Given the description of an element on the screen output the (x, y) to click on. 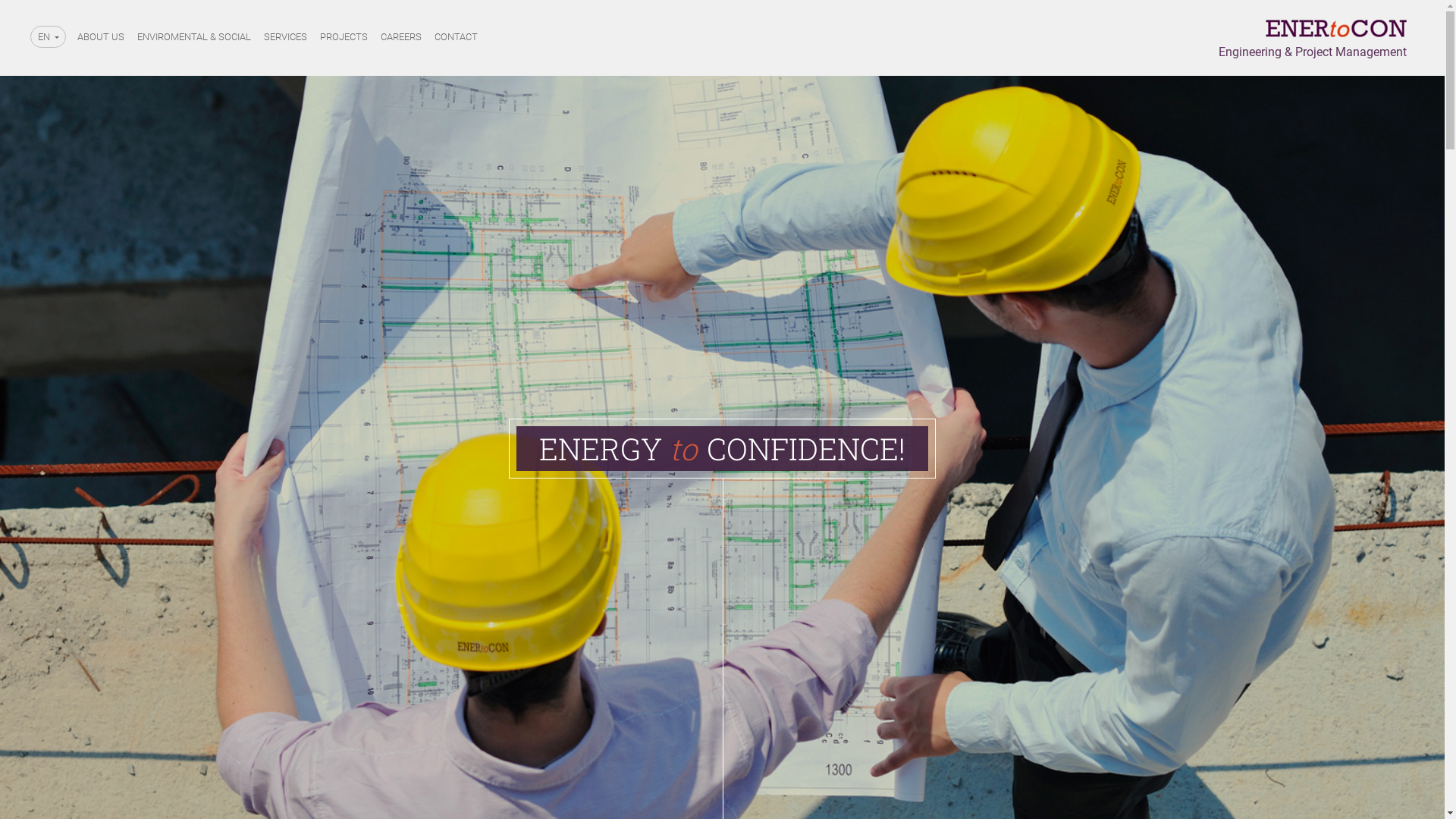
PROJECTS Element type: text (343, 37)
ABOUT US Element type: text (100, 37)
ENVIROMENTAL & SOCIAL Element type: text (194, 37)
CAREERS Element type: text (400, 37)
SERVICES Element type: text (285, 37)
CONTACT Element type: text (455, 37)
Engineering & Project Management Element type: text (1312, 39)
